Given the description of an element on the screen output the (x, y) to click on. 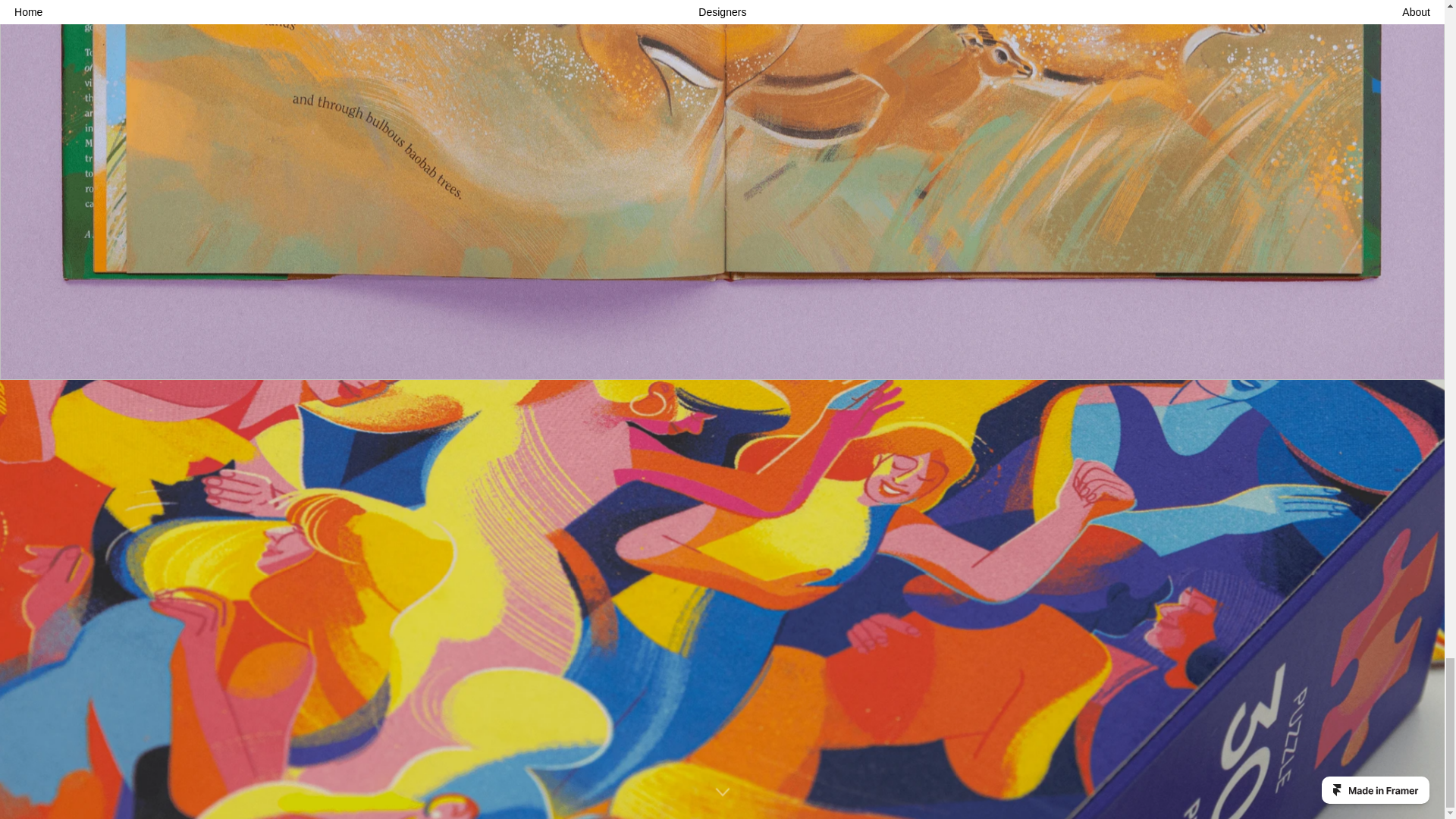
Instagram (315, 751)
Framer (136, 774)
The Network (184, 761)
LinkedIn (311, 784)
